Given the description of an element on the screen output the (x, y) to click on. 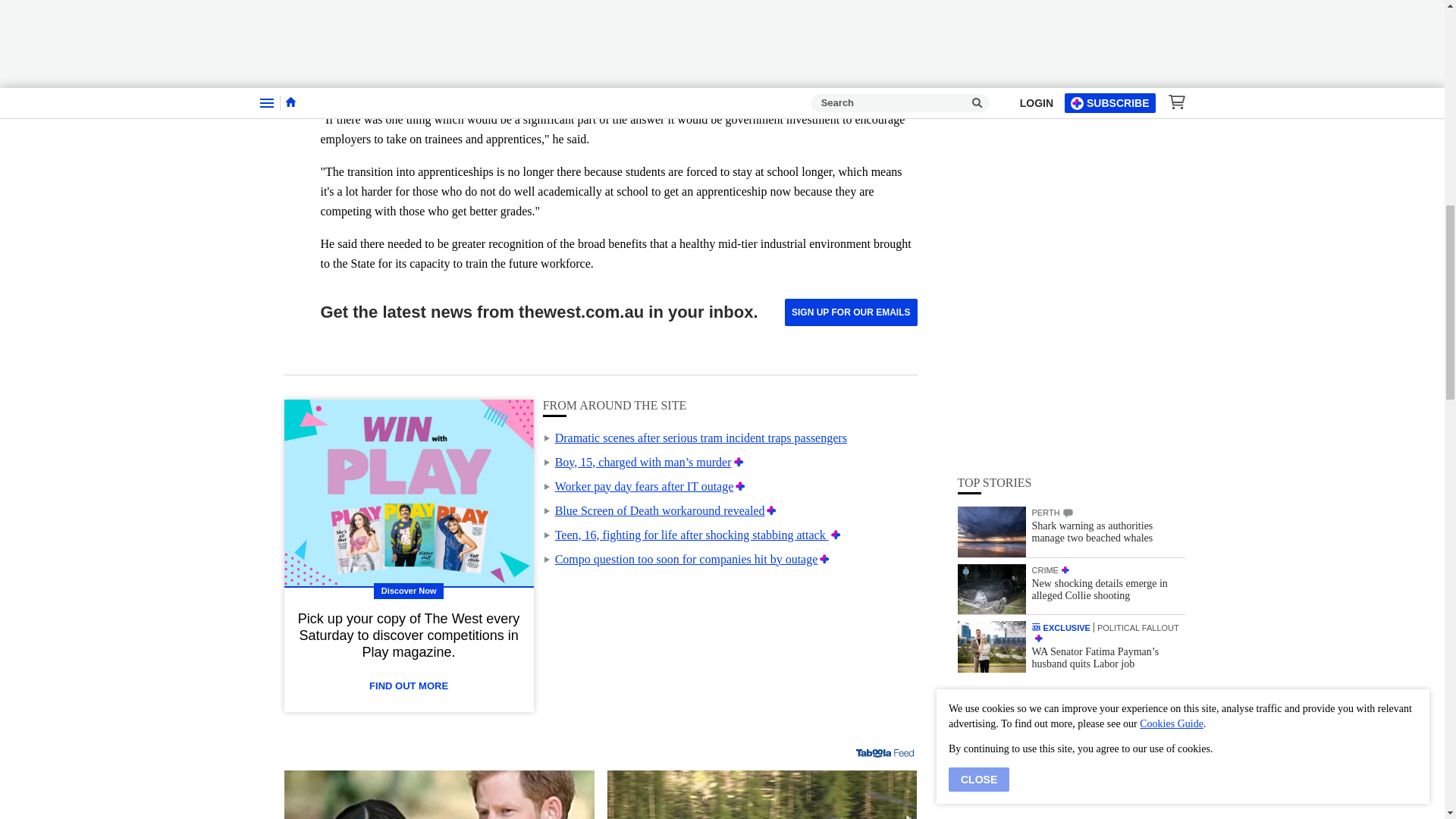
PREMIUM (1037, 236)
Premium (739, 486)
COMMENTS (1067, 112)
THE WEST AUSTRALIAN (1035, 225)
PREMIUM (1064, 168)
Premium (824, 558)
Premium (738, 461)
Premium (836, 534)
Premium (771, 510)
